Given the description of an element on the screen output the (x, y) to click on. 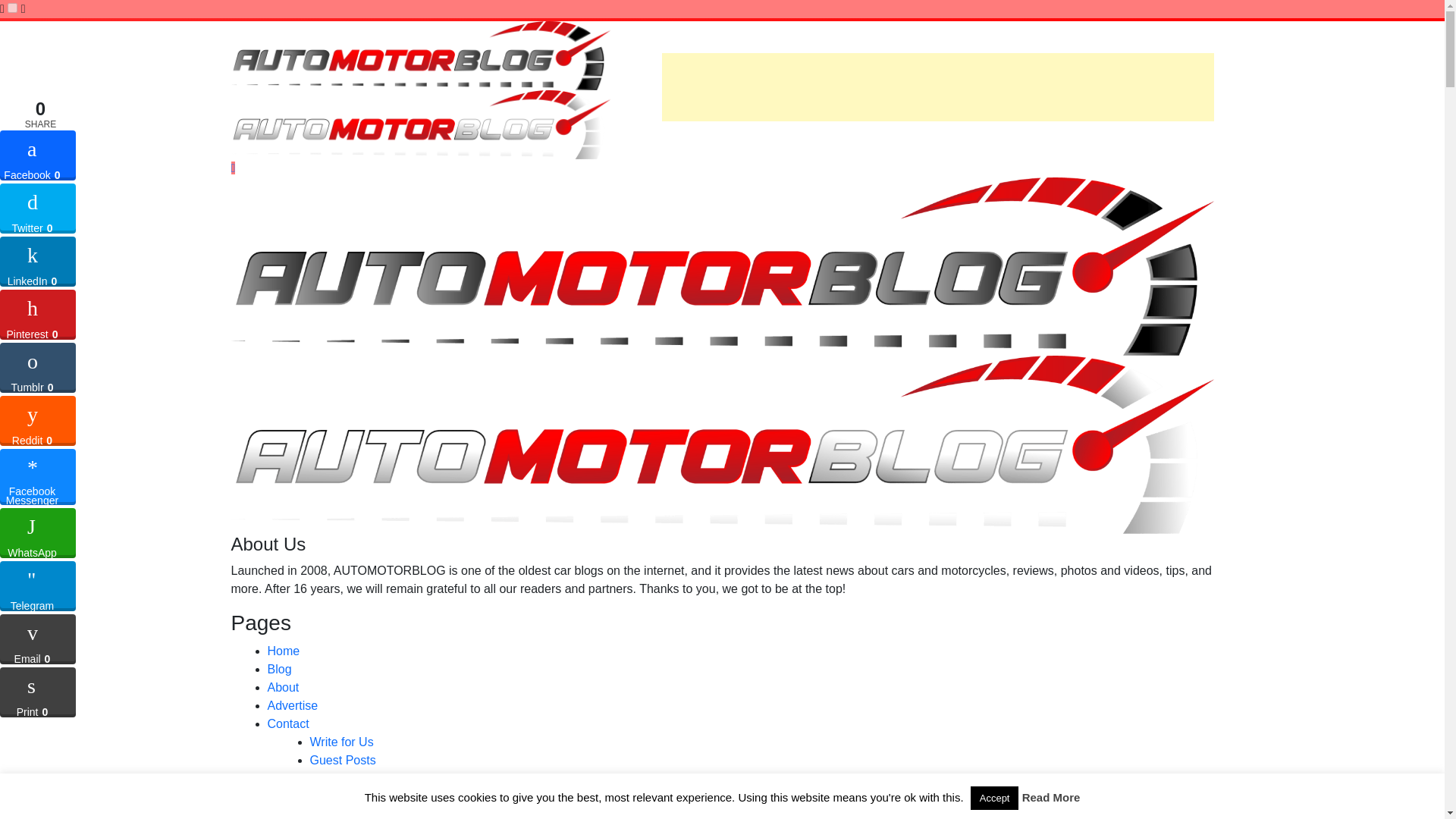
Blog (278, 668)
Home (282, 650)
on (12, 8)
Guest Posts (341, 759)
Write for Us (340, 741)
Send us a tip! (346, 778)
Advertisement (936, 87)
Contact (287, 723)
About (282, 686)
Advertise (291, 705)
